Given the description of an element on the screen output the (x, y) to click on. 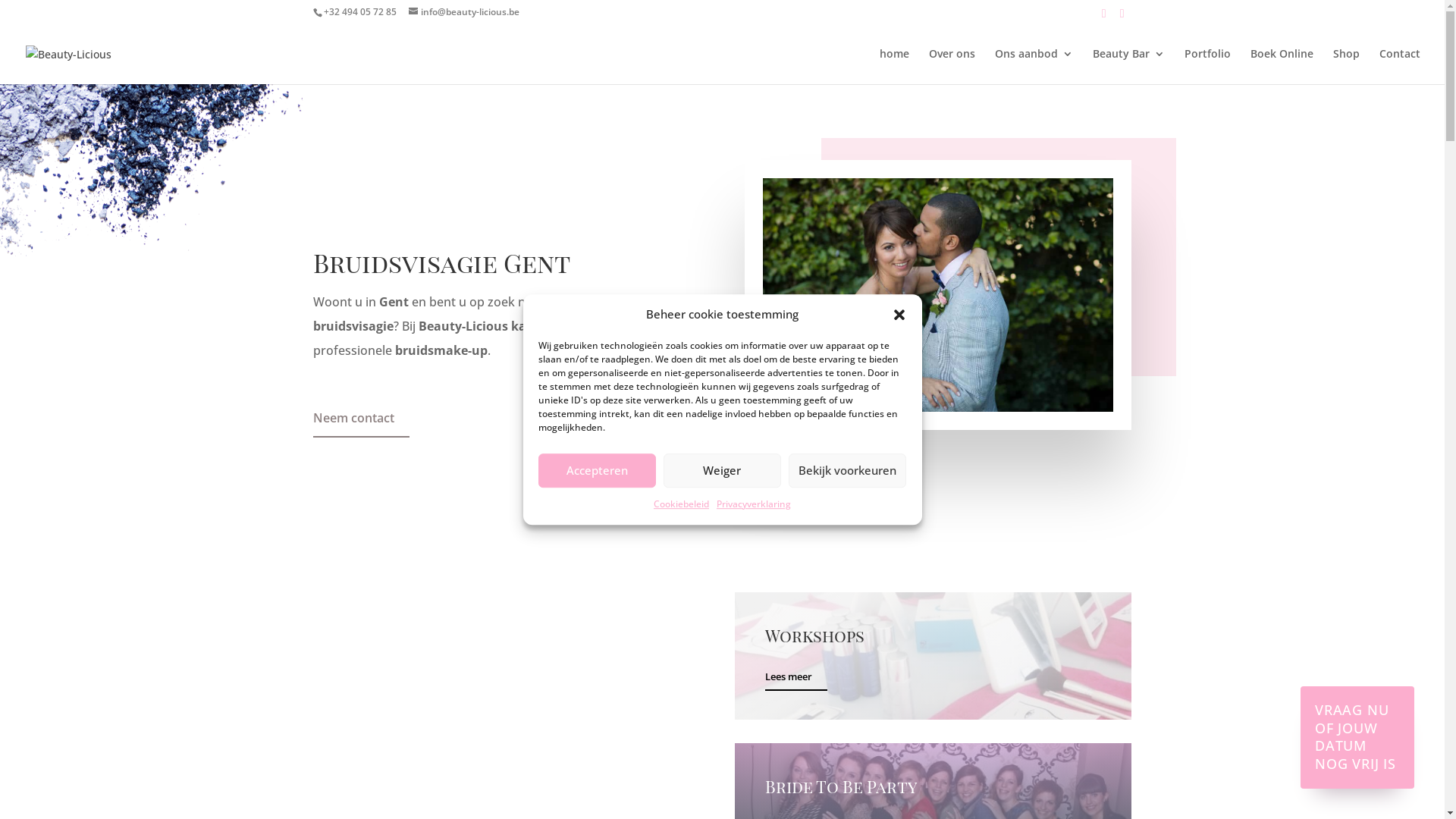
VRAAG NU OF JOUW DATUM NOG VRIJ IS Element type: text (1357, 737)
Over ons Element type: text (951, 66)
Ons aanbod Element type: text (1033, 66)
Bekijk ons portfolio Element type: text (635, 472)
Neem contact Element type: text (360, 421)
Beauty Bar Element type: text (1128, 66)
Weiger Element type: text (722, 470)
Lees meer Element type: text (796, 678)
info@beauty-licious.be Element type: text (462, 11)
Accepteren Element type: text (596, 470)
Boek Online Element type: text (1281, 66)
Contact Element type: text (1399, 66)
Bekijk voorkeuren Element type: text (847, 470)
Portfolio Element type: text (1207, 66)
Shop Element type: text (1346, 66)
Cookiebeleid Element type: text (681, 504)
Privacyverklaring Element type: text (753, 504)
home Element type: text (894, 66)
